Given the description of an element on the screen output the (x, y) to click on. 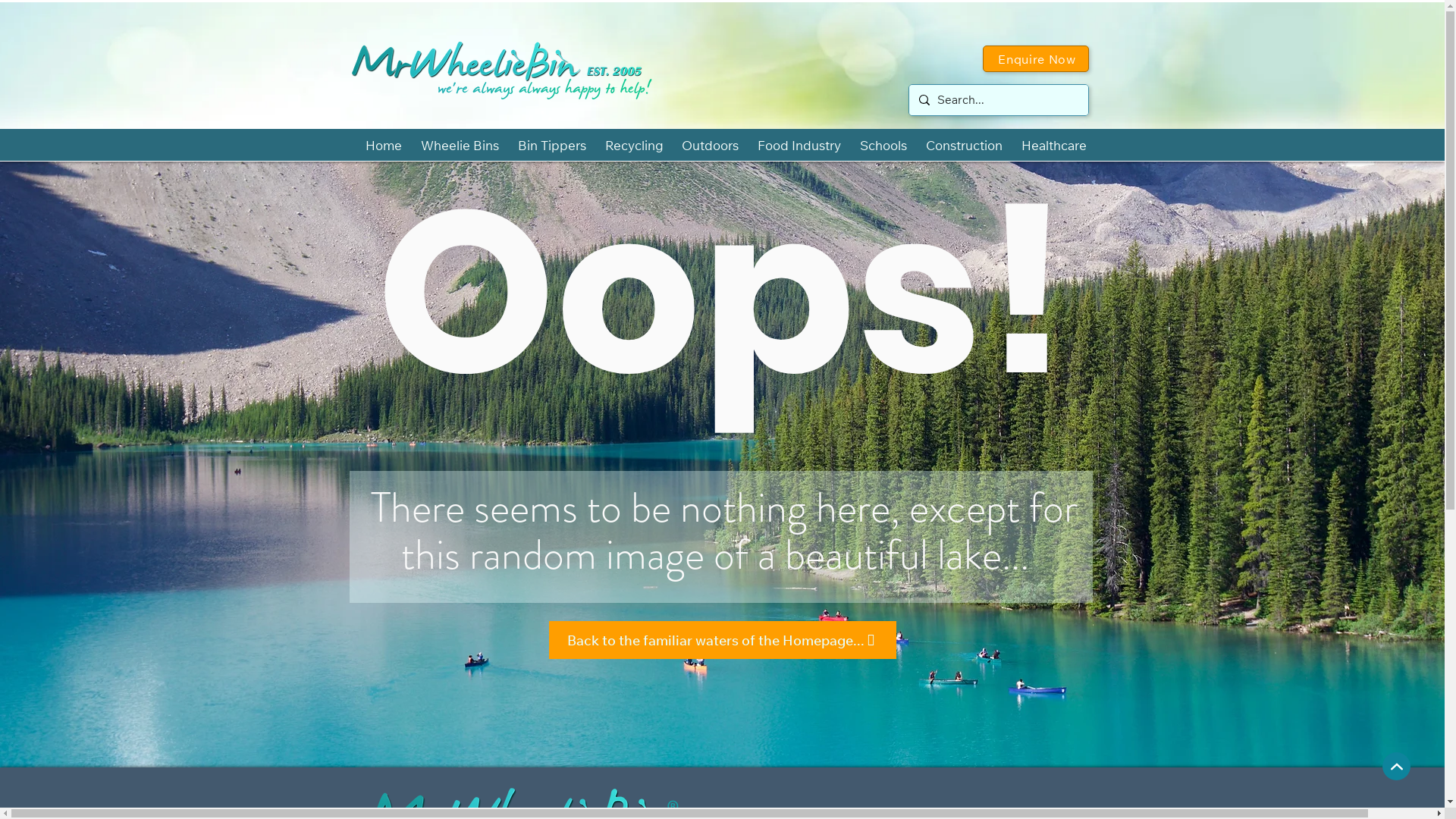
Recycling Element type: text (633, 144)
Construction Element type: text (963, 144)
Schools Element type: text (882, 144)
Outdoors Element type: text (710, 144)
Home Element type: text (383, 144)
Enquire Now Element type: text (1035, 58)
Wheelie Bins Element type: text (459, 144)
Healthcare Element type: text (1053, 144)
Food Industry Element type: text (798, 144)
Bin Tippers Element type: text (551, 144)
